Given the description of an element on the screen output the (x, y) to click on. 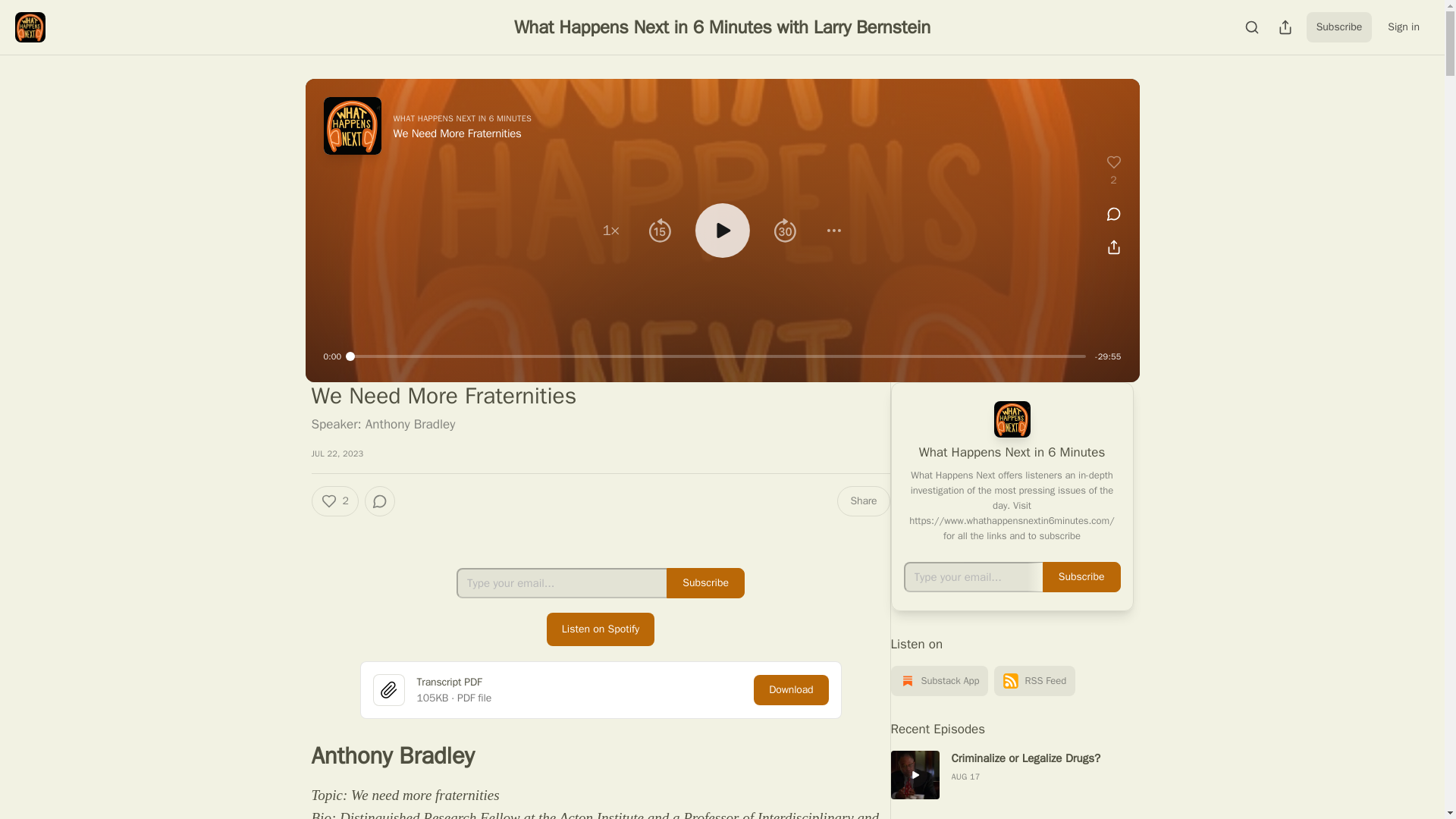
Share (863, 501)
Subscribe (705, 583)
Subscribe (1339, 27)
Download (791, 689)
What Happens Next in 6 Minutes with Larry Bernstein (721, 26)
Listen on Spotify (600, 629)
Sign in (1403, 27)
2 (334, 501)
